Given the description of an element on the screen output the (x, y) to click on. 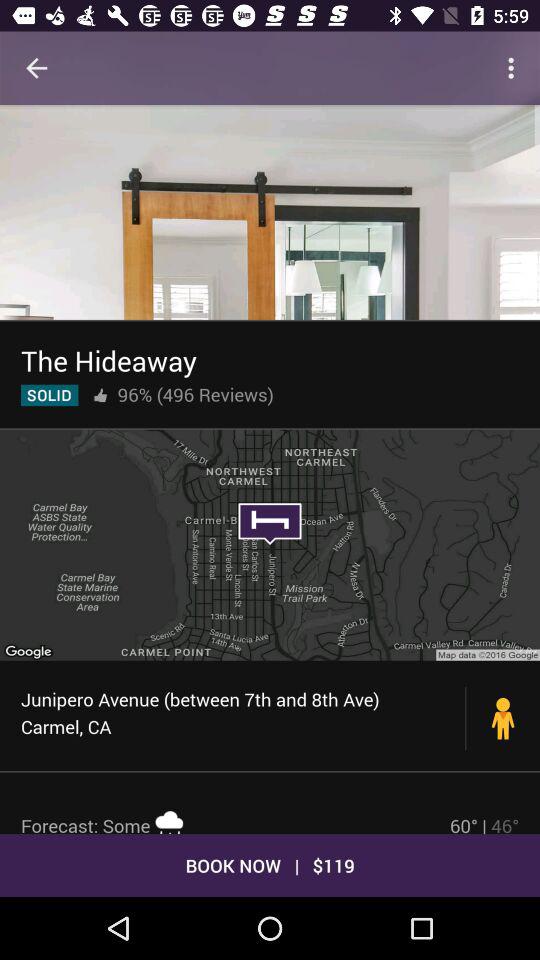
press item below the junipero avenue between icon (235, 818)
